Given the description of an element on the screen output the (x, y) to click on. 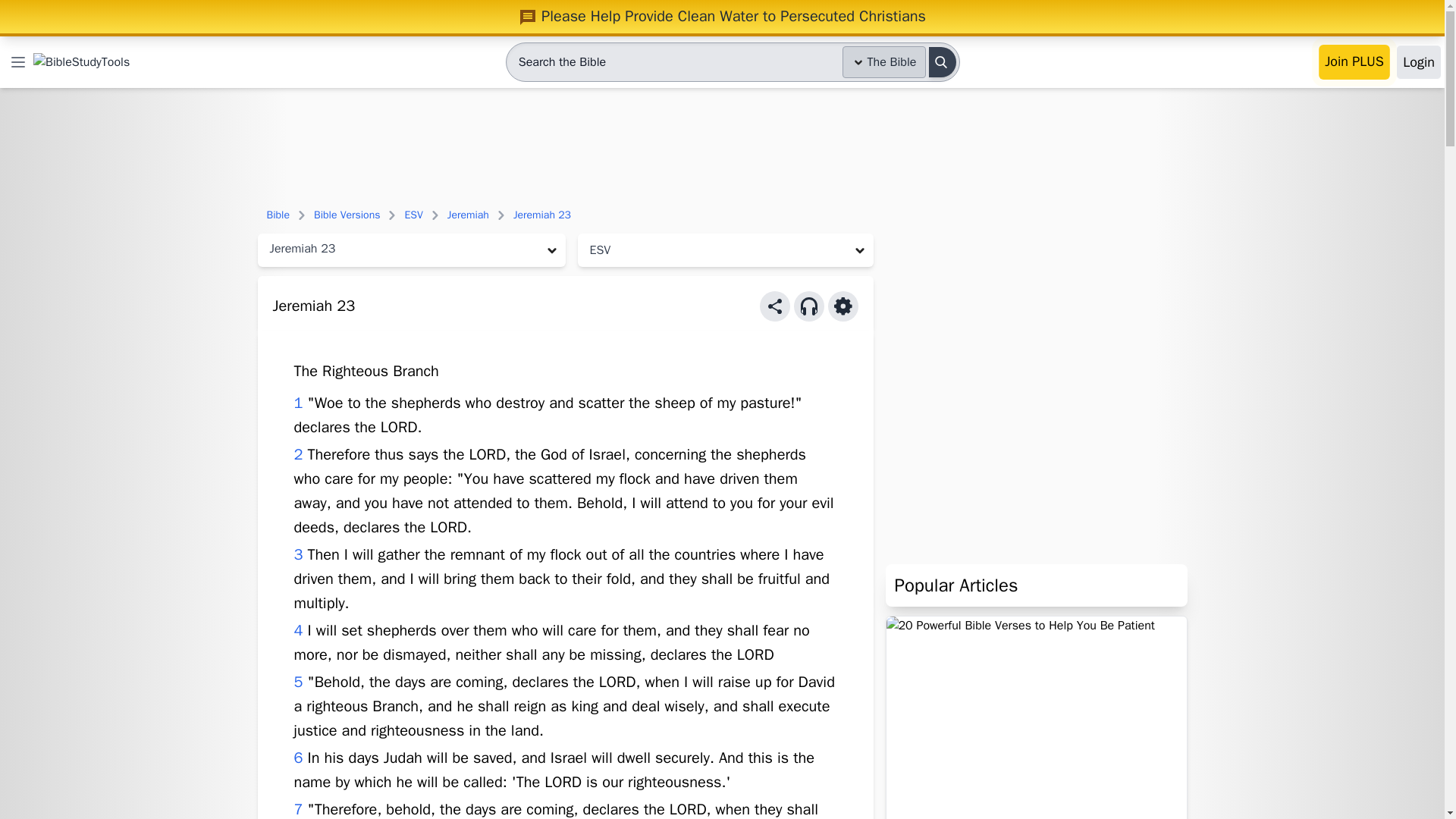
Please Help Provide Clean Water to Persecuted Christians (721, 16)
Audio Bible (808, 306)
Scripture Settings (843, 306)
Join PLUS (1354, 62)
Login (1418, 62)
The Bible (884, 61)
